Given the description of an element on the screen output the (x, y) to click on. 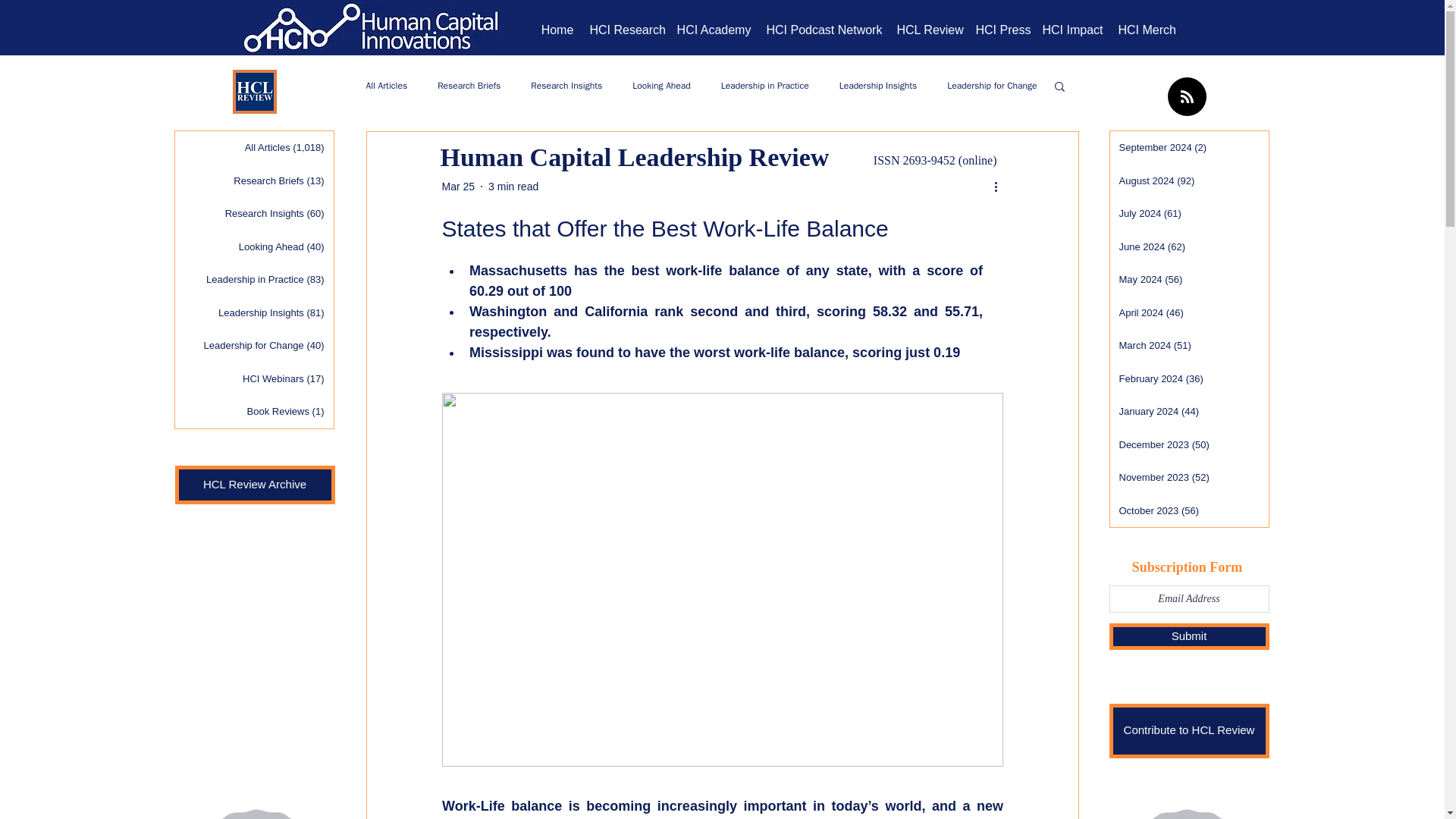
HCL Review.png (253, 91)
HCL Review (928, 29)
HCI Press (1000, 29)
Mar 25 (457, 186)
HCI Impact (1071, 29)
3 min read (512, 186)
Home (556, 29)
HCI Merch (1145, 29)
HCI Research (625, 29)
HCI Academy (713, 29)
